Given the description of an element on the screen output the (x, y) to click on. 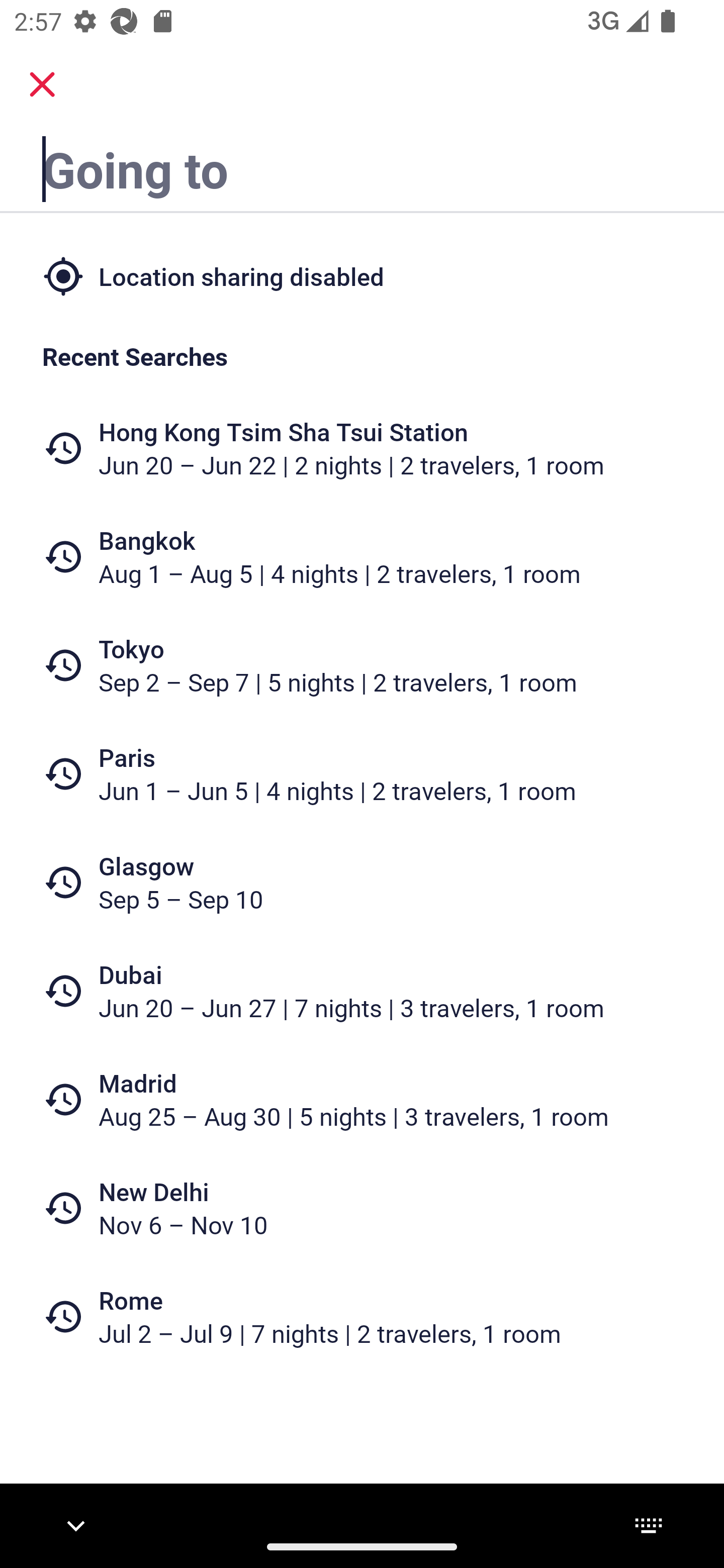
close. (42, 84)
Location sharing disabled (362, 275)
Glasgow Sep 5 – Sep 10 (362, 881)
New Delhi Nov 6 – Nov 10 (362, 1208)
